Given the description of an element on the screen output the (x, y) to click on. 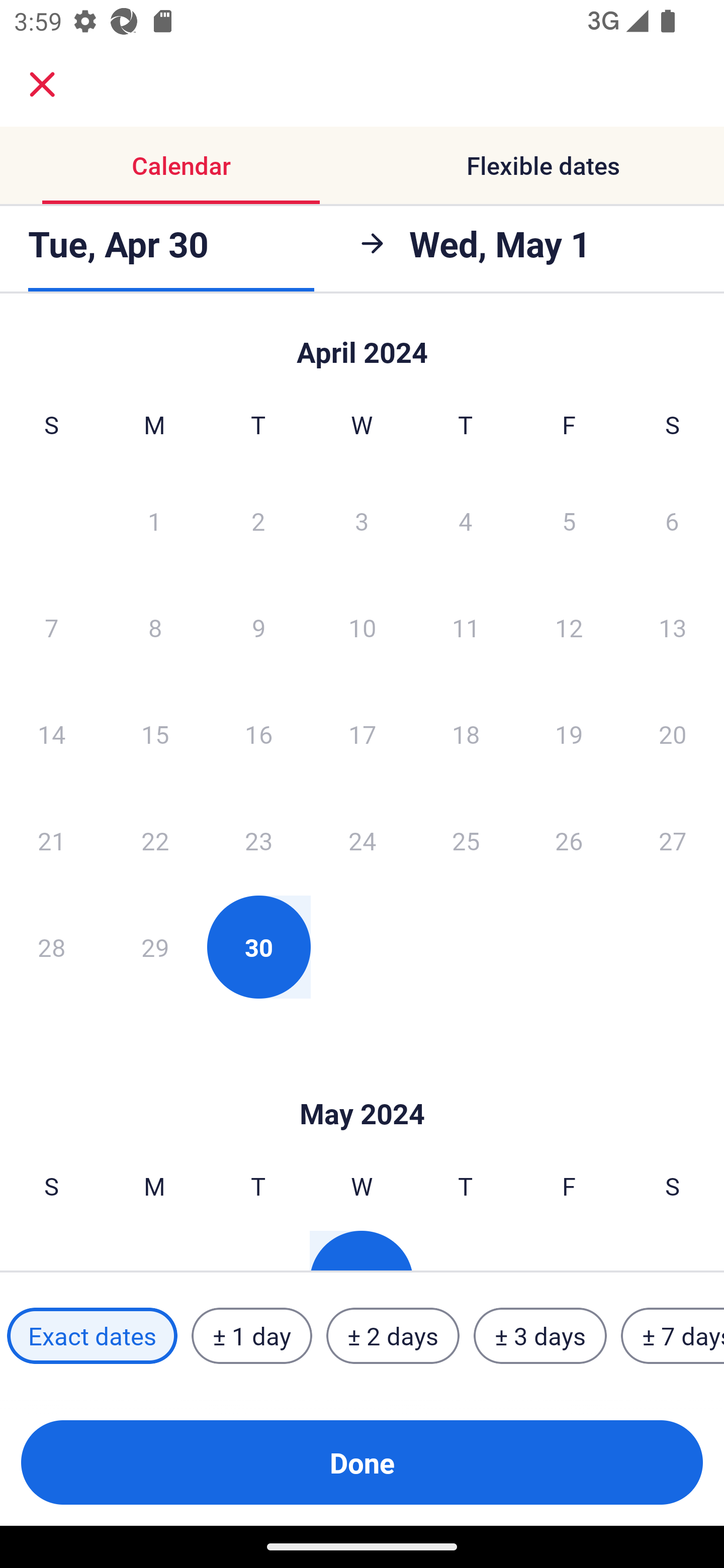
close. (42, 84)
Flexible dates (542, 164)
Skip to Done (362, 343)
1 Monday, April 1, 2024 (154, 520)
2 Tuesday, April 2, 2024 (257, 520)
3 Wednesday, April 3, 2024 (361, 520)
4 Thursday, April 4, 2024 (465, 520)
5 Friday, April 5, 2024 (568, 520)
6 Saturday, April 6, 2024 (672, 520)
7 Sunday, April 7, 2024 (51, 626)
8 Monday, April 8, 2024 (155, 626)
9 Tuesday, April 9, 2024 (258, 626)
10 Wednesday, April 10, 2024 (362, 626)
11 Thursday, April 11, 2024 (465, 626)
12 Friday, April 12, 2024 (569, 626)
13 Saturday, April 13, 2024 (672, 626)
14 Sunday, April 14, 2024 (51, 733)
15 Monday, April 15, 2024 (155, 733)
16 Tuesday, April 16, 2024 (258, 733)
17 Wednesday, April 17, 2024 (362, 733)
18 Thursday, April 18, 2024 (465, 733)
19 Friday, April 19, 2024 (569, 733)
20 Saturday, April 20, 2024 (672, 733)
21 Sunday, April 21, 2024 (51, 840)
22 Monday, April 22, 2024 (155, 840)
23 Tuesday, April 23, 2024 (258, 840)
24 Wednesday, April 24, 2024 (362, 840)
25 Thursday, April 25, 2024 (465, 840)
26 Friday, April 26, 2024 (569, 840)
27 Saturday, April 27, 2024 (672, 840)
28 Sunday, April 28, 2024 (51, 946)
29 Monday, April 29, 2024 (155, 946)
Skip to Done (362, 1083)
Exact dates (92, 1335)
± 1 day (251, 1335)
± 2 days (392, 1335)
± 3 days (539, 1335)
± 7 days (672, 1335)
Done (361, 1462)
